Given the description of an element on the screen output the (x, y) to click on. 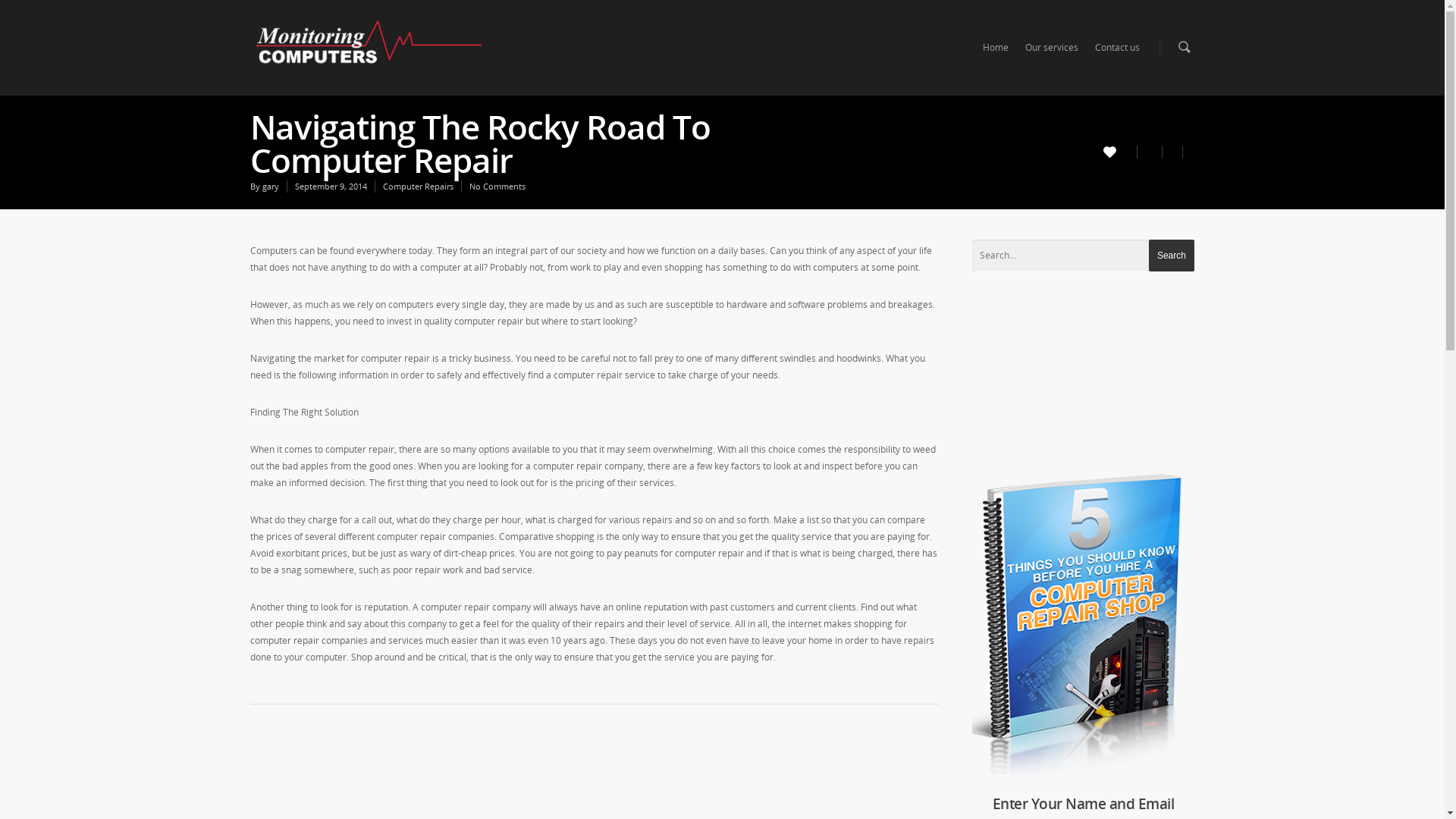
Share this Element type: hover (1188, 151)
Contact us Element type: text (1117, 51)
Share this Element type: hover (1149, 151)
Home Element type: text (995, 51)
Tweet this Element type: hover (1172, 151)
Computer Repairs Element type: text (417, 185)
Search Element type: text (1171, 255)
Our services Element type: text (1051, 51)
Search for: Element type: hover (1083, 255)
Love this Element type: hover (1119, 149)
No Comments Element type: text (497, 185)
gary Element type: text (270, 185)
